Given the description of an element on the screen output the (x, y) to click on. 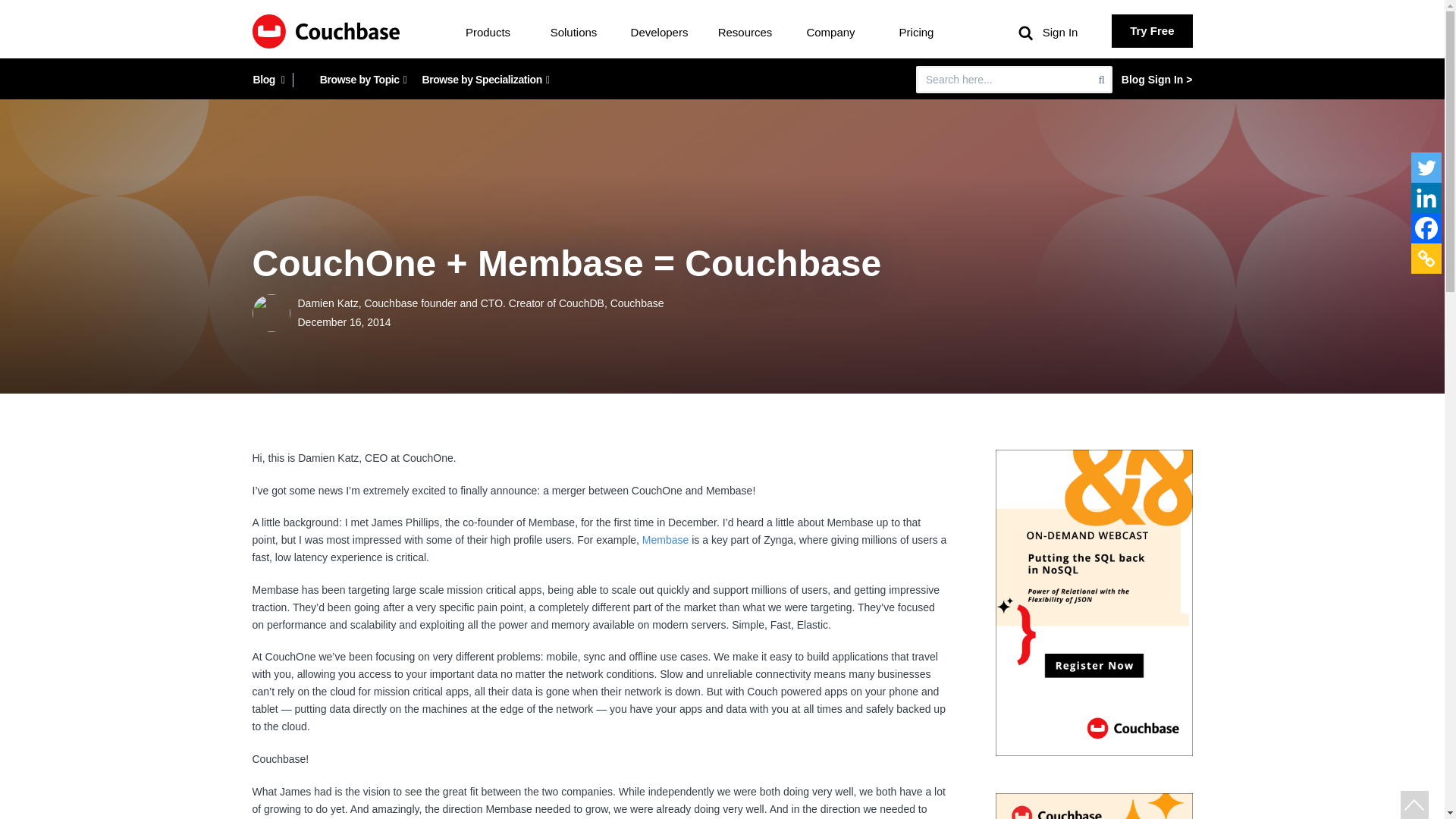
Copy Link (1425, 258)
Developers (659, 31)
Linkedin (1425, 197)
Products (488, 31)
Solutions (573, 31)
Twitter (1425, 167)
Blog Sign In (1156, 79)
Facebook (1425, 227)
